Given the description of an element on the screen output the (x, y) to click on. 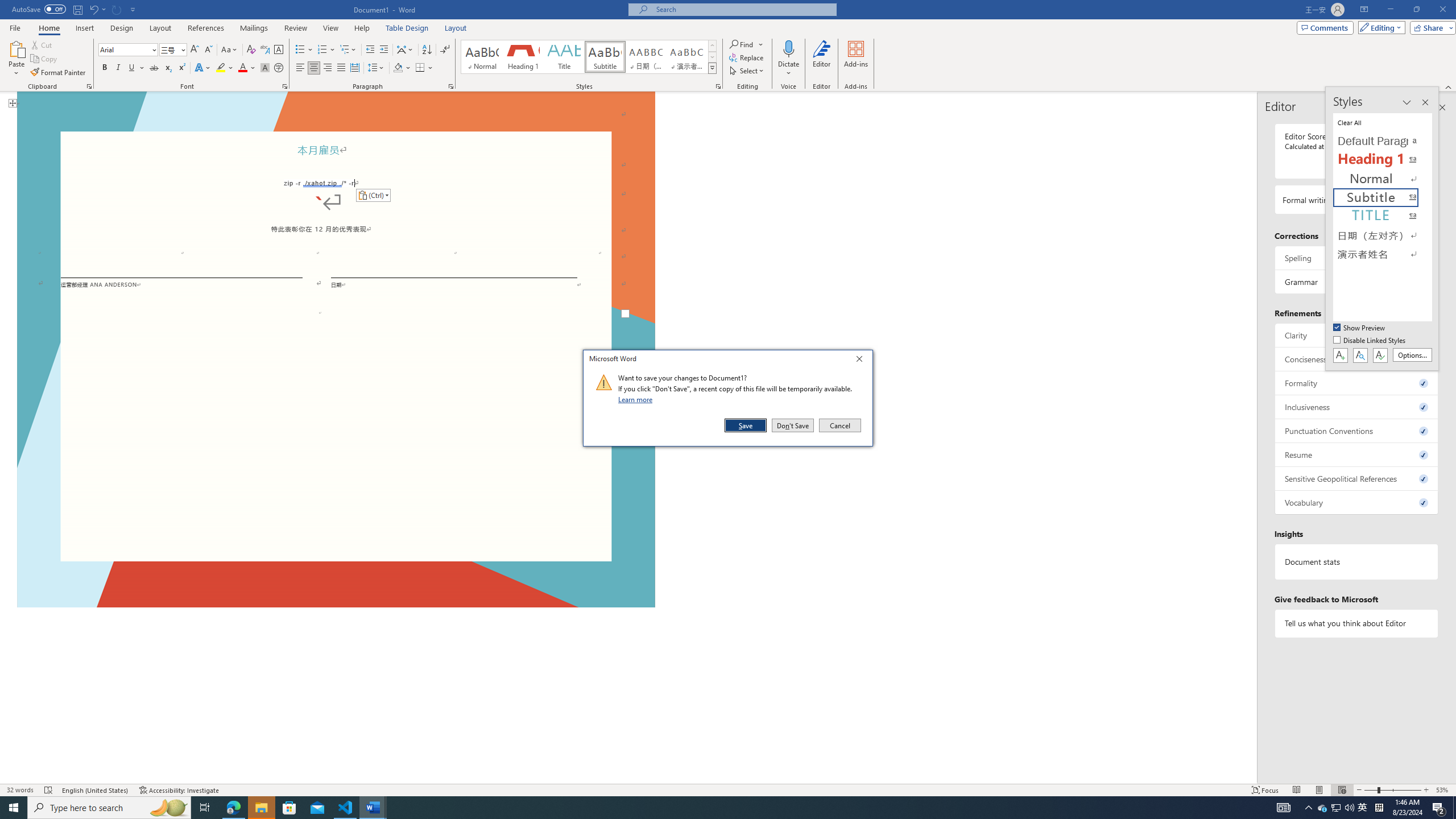
Disable Linked Styles (1370, 340)
Tell us what you think about Editor (1356, 623)
Heading 1 (522, 56)
Microsoft Edge - 1 running window (233, 807)
